Given the description of an element on the screen output the (x, y) to click on. 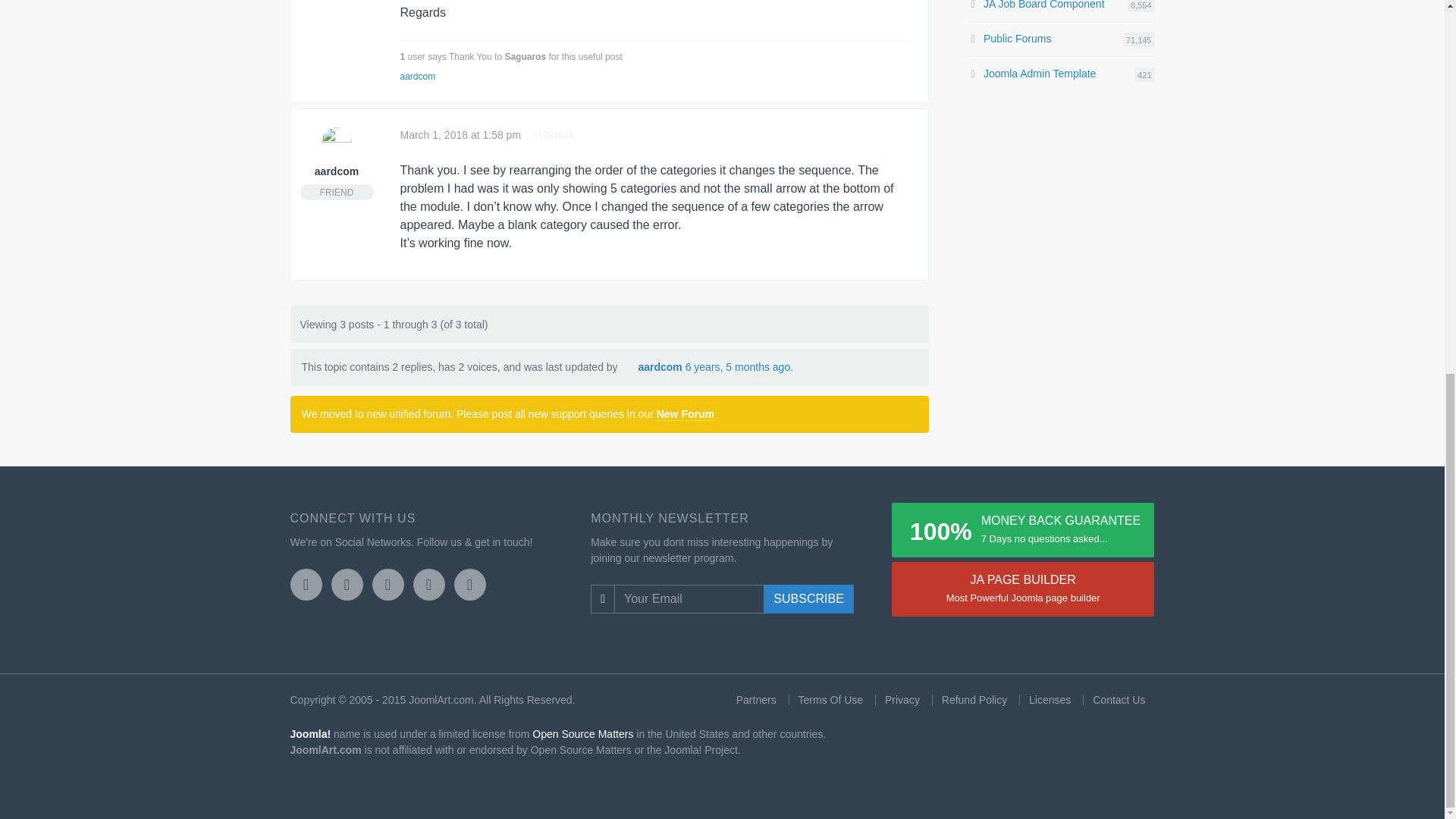
View aardcom's profile (336, 171)
Subscribe (807, 598)
View aardcom's profile (336, 142)
Forum Role (336, 191)
View aardcom's profile (627, 367)
View aardcom's profile (659, 367)
